Given the description of an element on the screen output the (x, y) to click on. 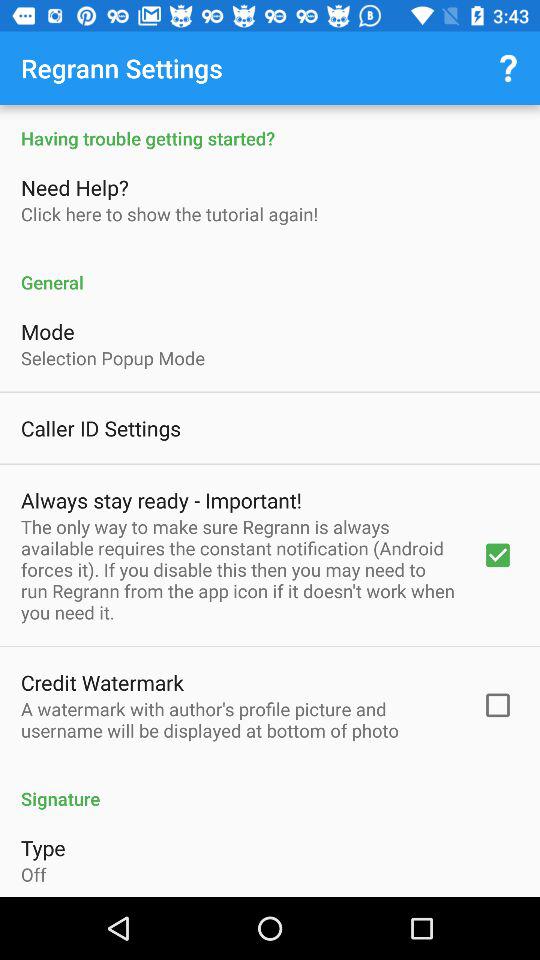
swipe to the off icon (33, 874)
